Given the description of an element on the screen output the (x, y) to click on. 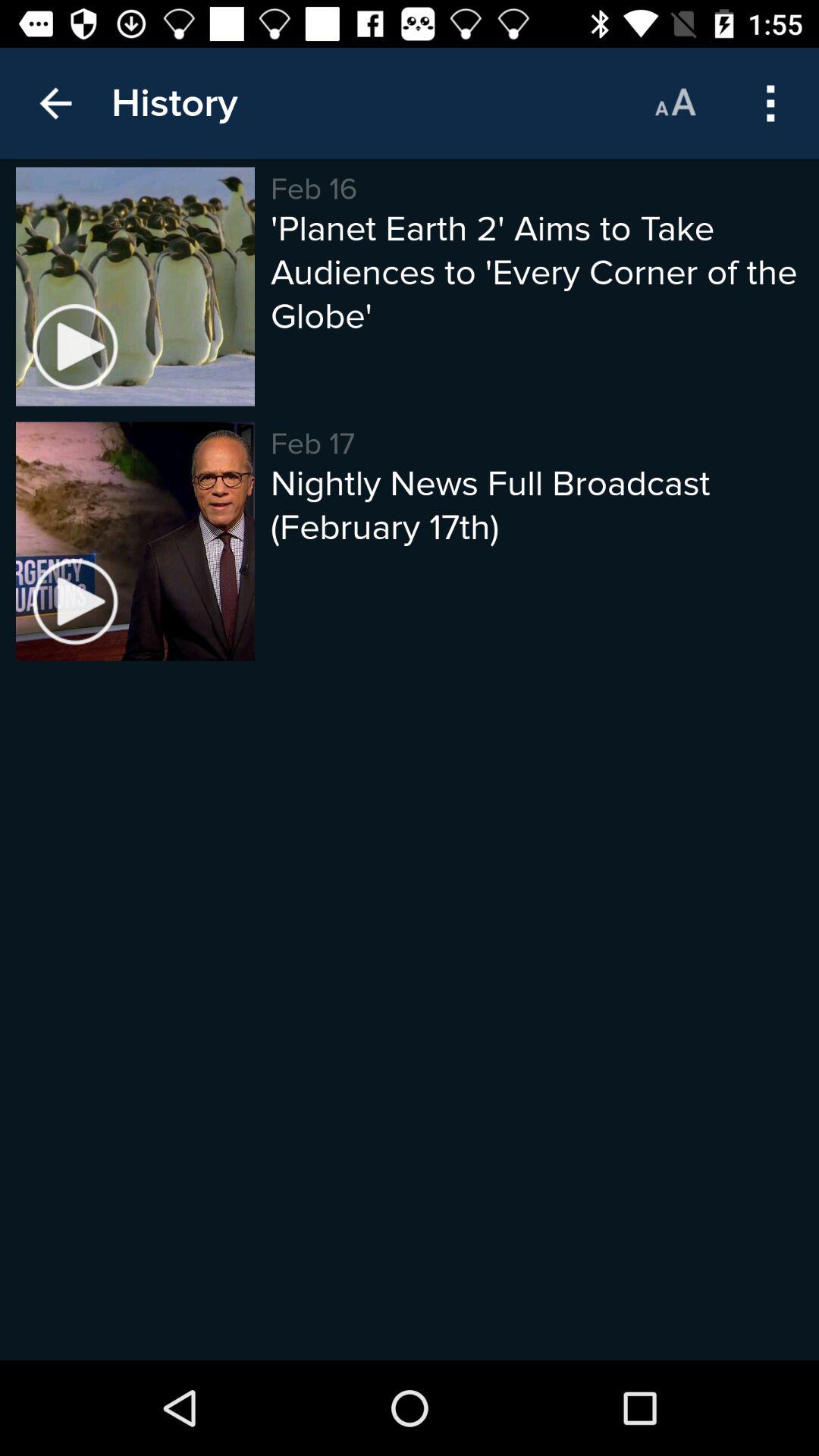
move to the icon which is right to the history (674, 103)
click the video which towards left side of the text nightly news full broadcastfebruary 17th (134, 541)
select the top left text (174, 103)
